Given the description of an element on the screen output the (x, y) to click on. 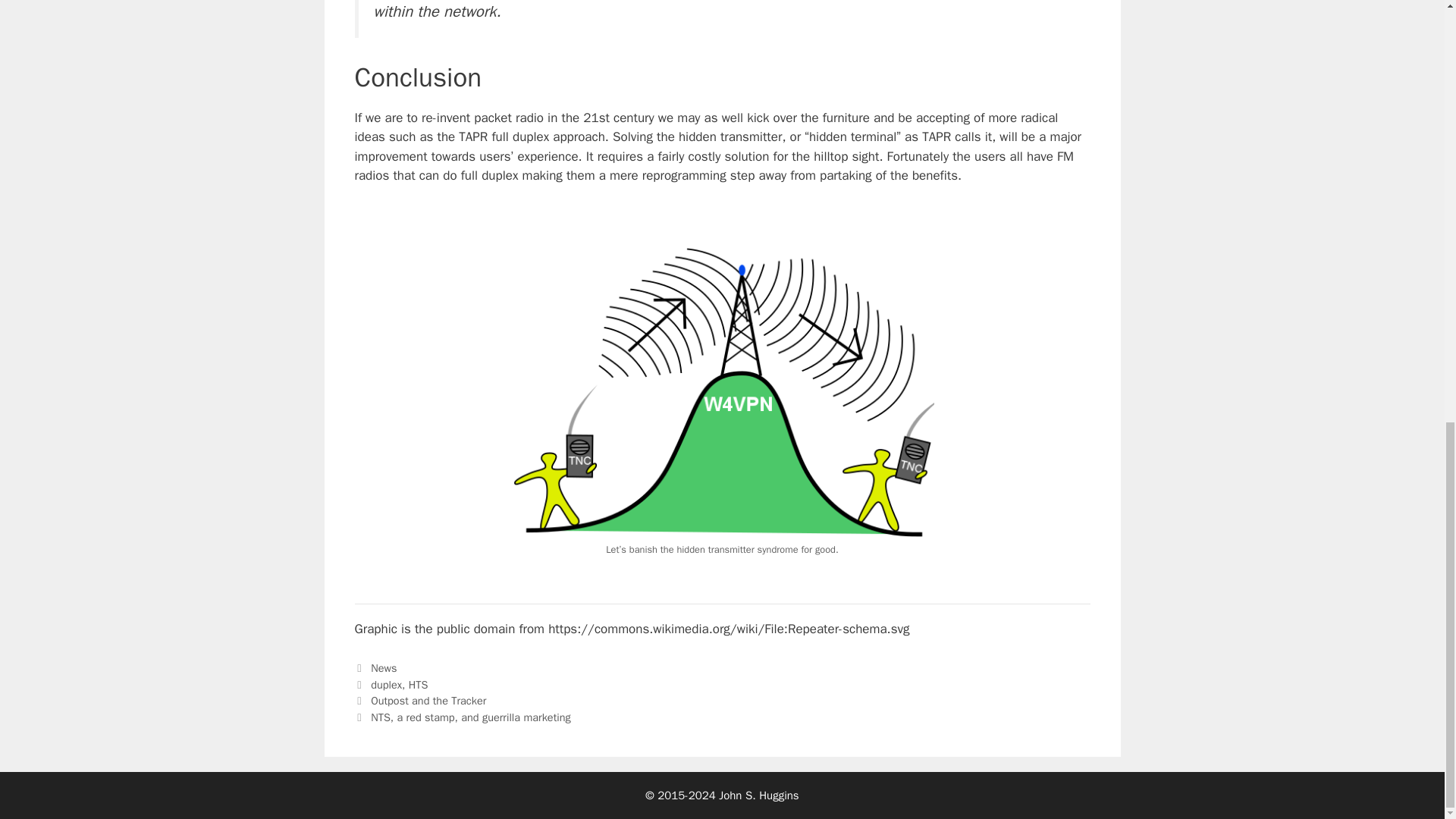
NTS, a red stamp, and guerrilla marketing (470, 716)
HTS (418, 684)
Let's banish the hidden transmitter syndrome for good. (722, 390)
Outpost and the Tracker (428, 700)
duplex (386, 684)
Scroll back to top (1406, 665)
News (383, 667)
